Given the description of an element on the screen output the (x, y) to click on. 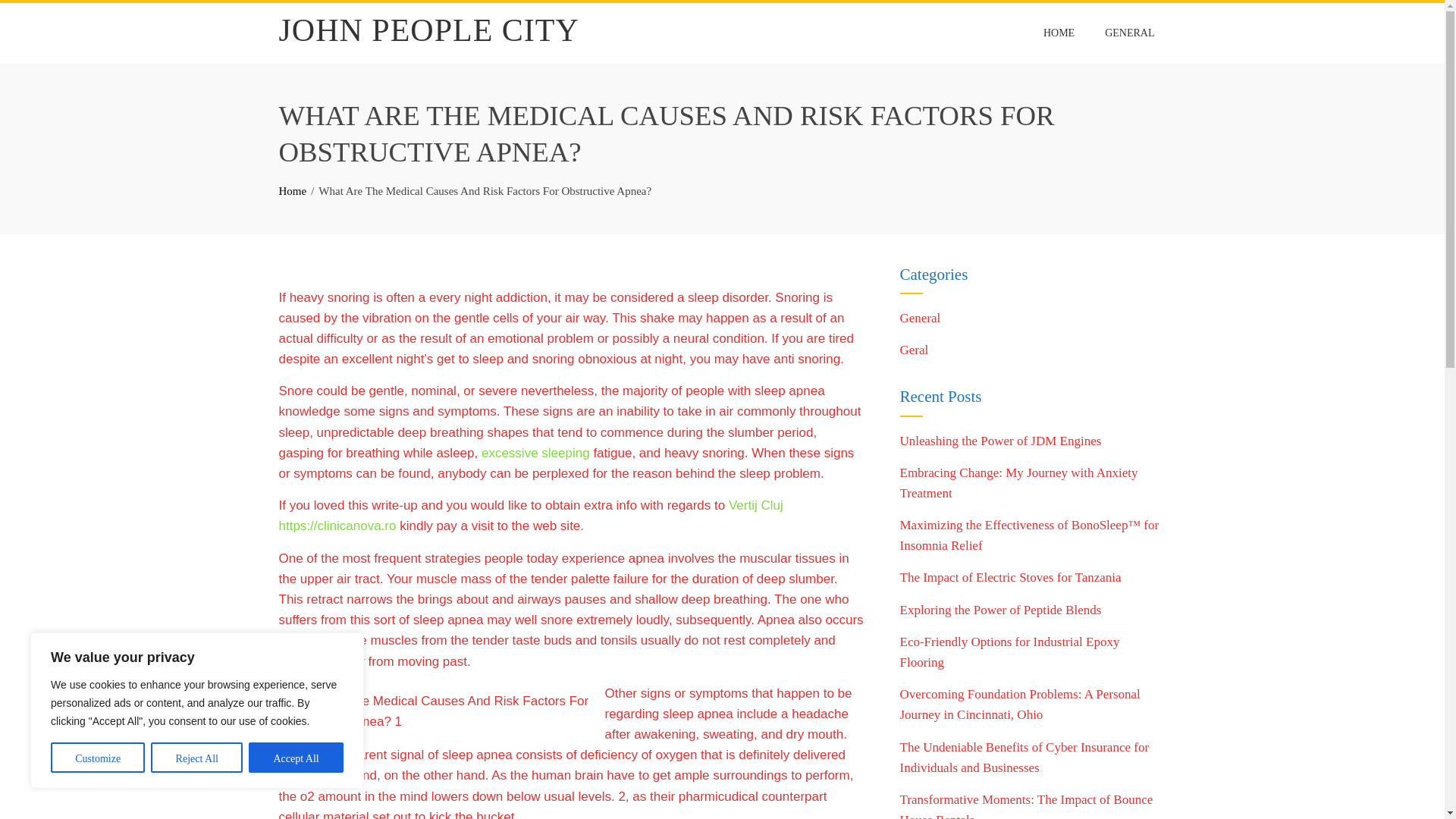
Customize (97, 757)
The Impact of Electric Stoves for Tanzania (1010, 577)
Reject All (197, 757)
Unleashing the Power of JDM Engines (999, 440)
Embracing Change: My Journey with Anxiety Treatment (1018, 483)
Geral (913, 350)
Home (293, 191)
Exploring the Power of Peptide Blends (999, 609)
JOHN PEOPLE CITY (429, 30)
